Given the description of an element on the screen output the (x, y) to click on. 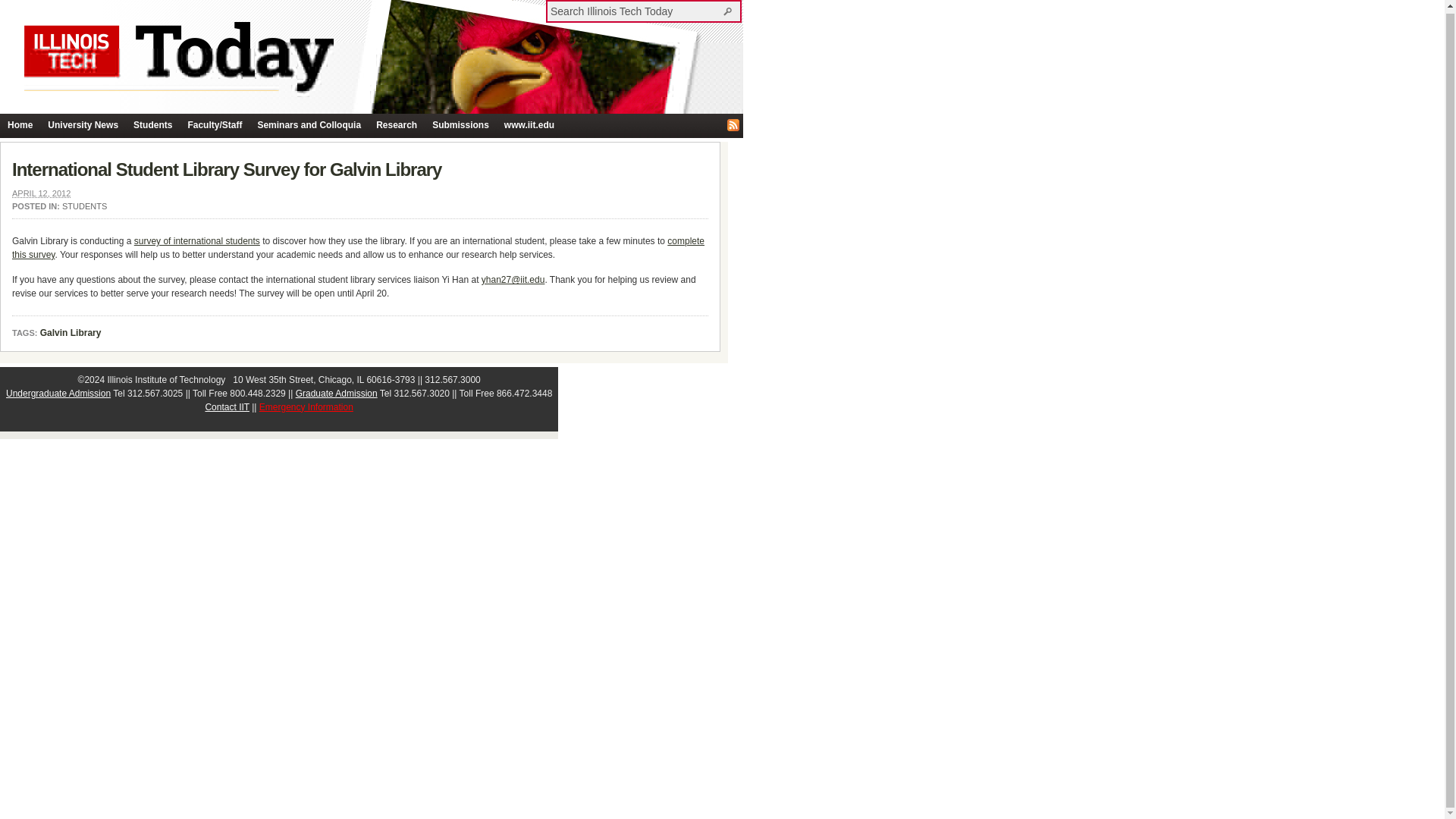
Search (729, 10)
Submissions (460, 125)
Home (20, 125)
Search (729, 10)
Contact IIT (226, 407)
Emergency Information (306, 407)
RSS Feed (732, 124)
complete this survey (357, 247)
Illinois Tech Today RSS Feed (732, 124)
Contact IIT (226, 407)
